Given the description of an element on the screen output the (x, y) to click on. 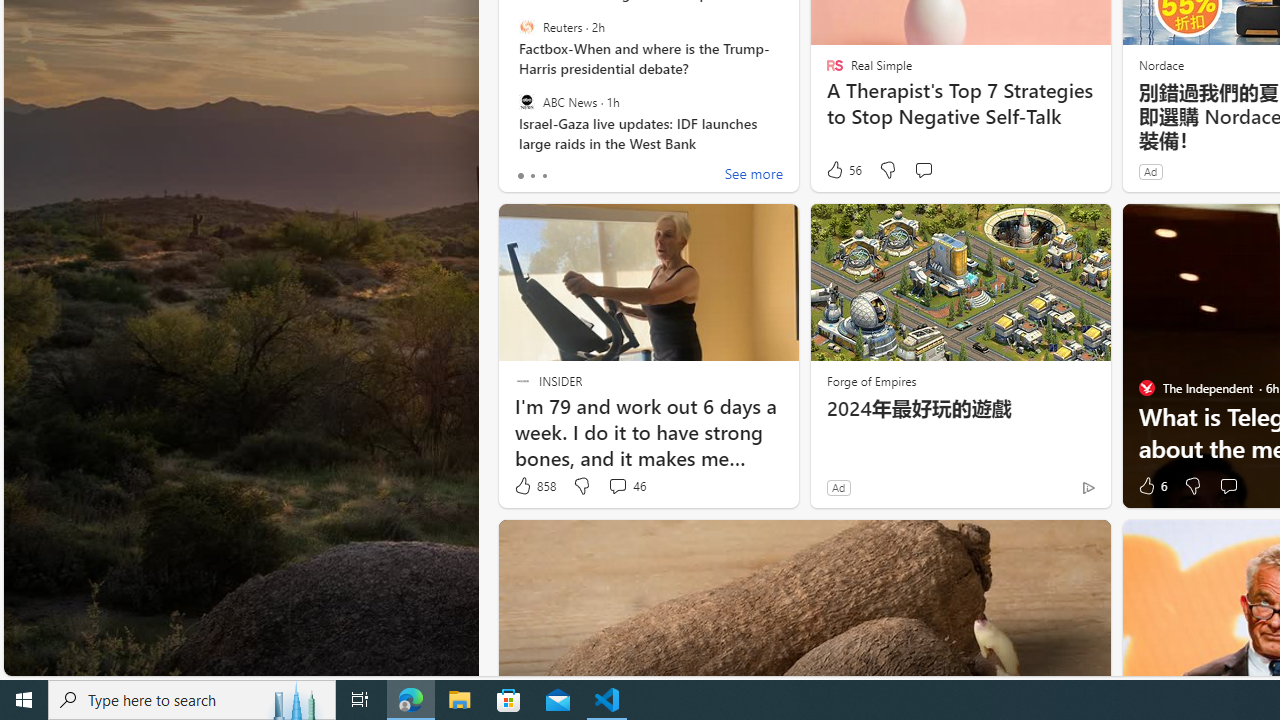
View comments 46 Comment (617, 485)
Forge of Empires (870, 380)
Start the conversation (1228, 485)
Ad Choice (1087, 487)
858 Like (534, 485)
Ad (838, 487)
ABC News (526, 101)
Dislike (1191, 485)
See more (753, 175)
tab-1 (532, 175)
